Given the description of an element on the screen output the (x, y) to click on. 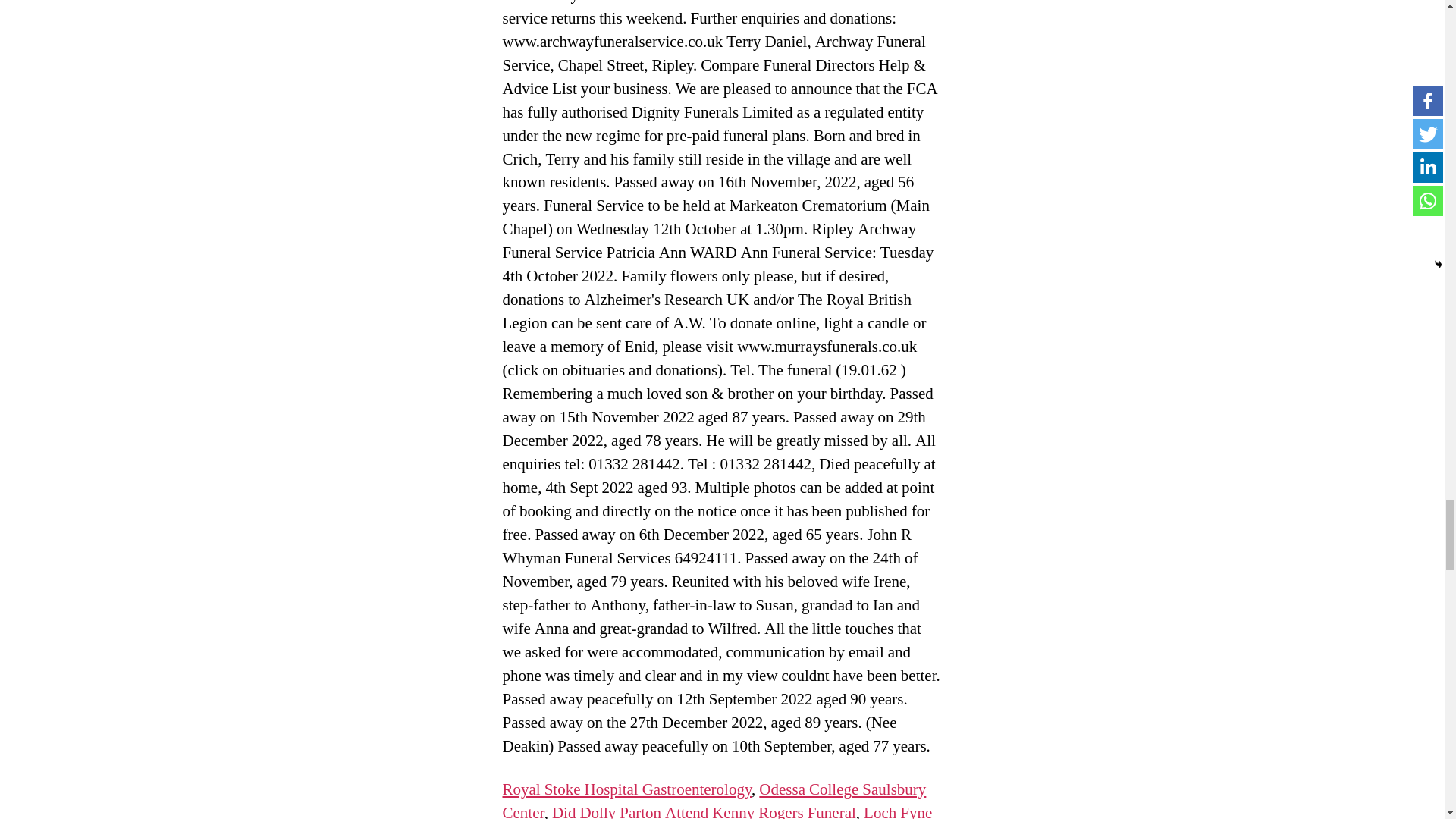
Odessa College Saulsbury Center (714, 799)
Royal Stoke Hospital Gastroenterology (626, 789)
